Given the description of an element on the screen output the (x, y) to click on. 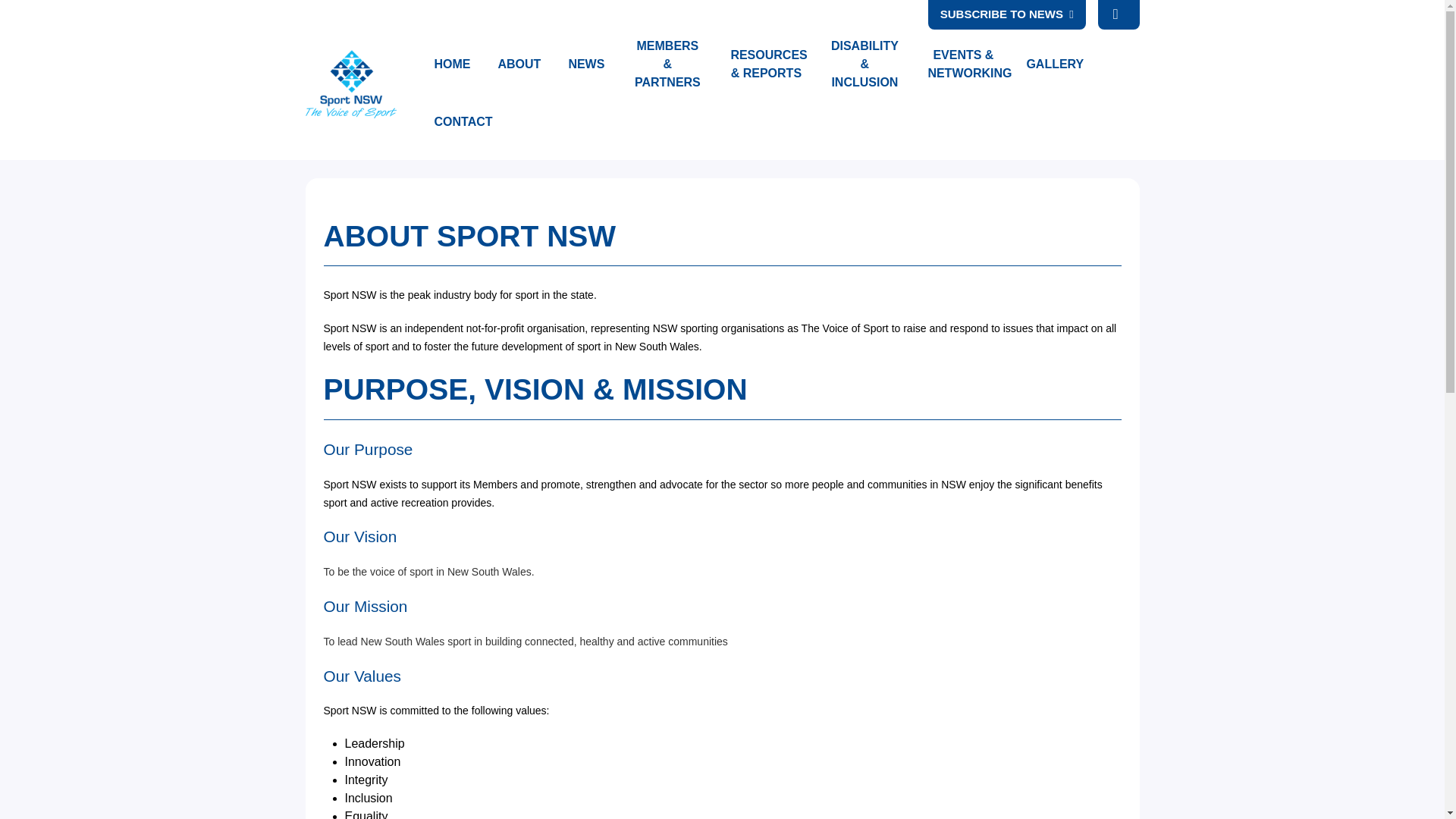
ABOUT (518, 63)
NEWS (585, 63)
HOME (451, 63)
Opens in new window (585, 63)
SUBSCRIBE TO NEWS (1007, 14)
